Given the description of an element on the screen output the (x, y) to click on. 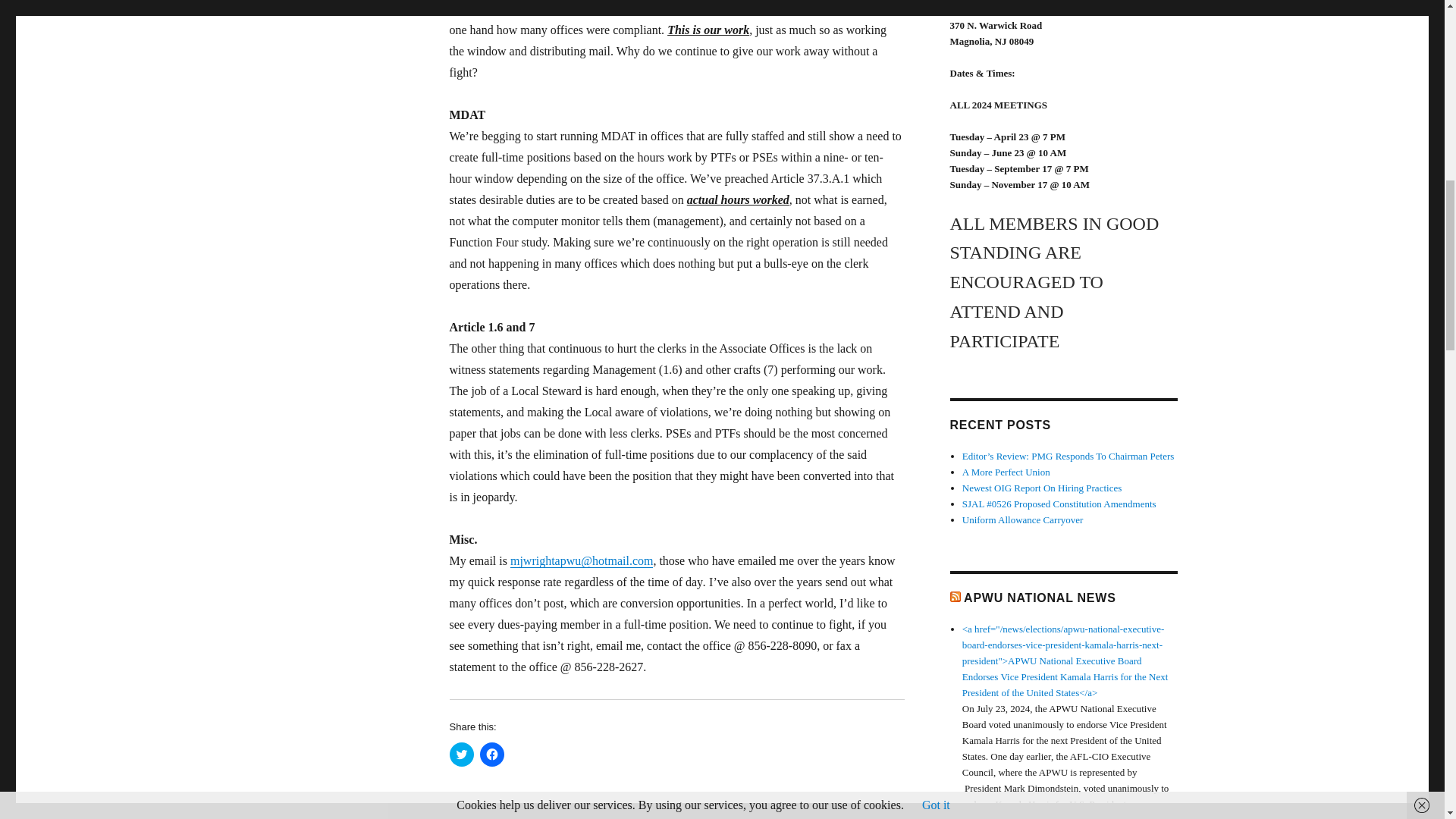
Click to share on Facebook (491, 754)
Newest OIG Report On Hiring Practices (1041, 487)
A More Perfect Union (1005, 471)
Click to share on Twitter (460, 754)
